Given the description of an element on the screen output the (x, y) to click on. 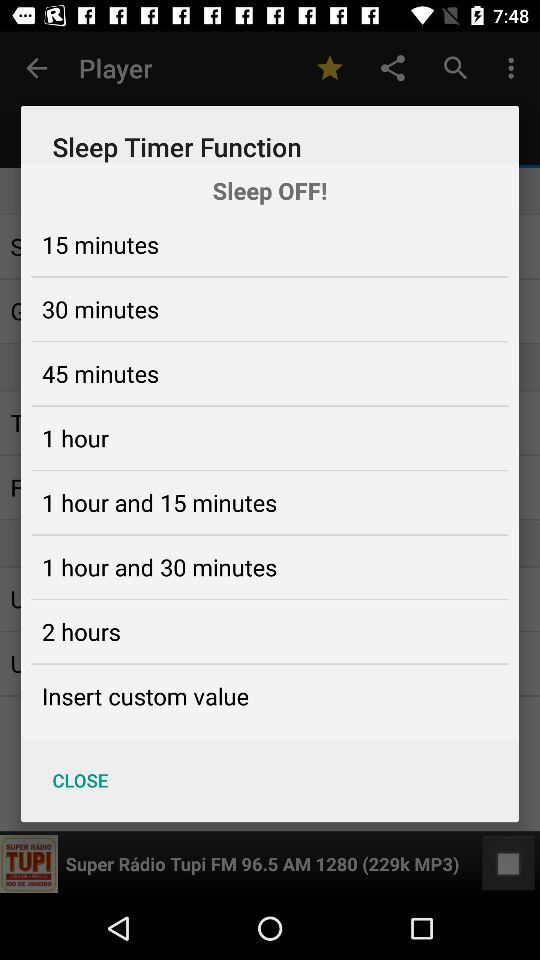
turn on the icon below the insert custom value item (80, 779)
